Given the description of an element on the screen output the (x, y) to click on. 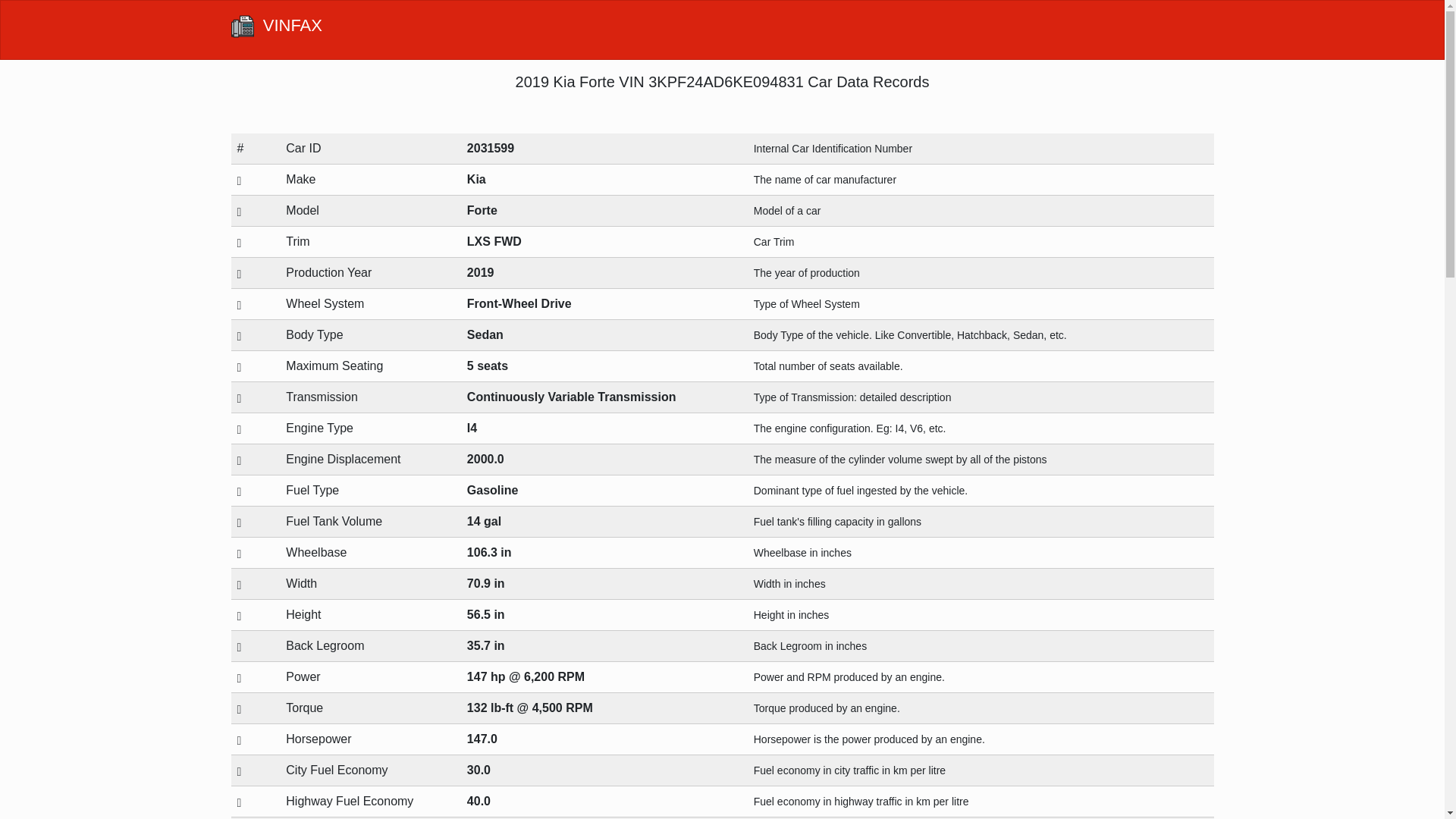
VinFax.pro (241, 26)
  VINFAX (275, 29)
VinFax.pro (275, 29)
